Given the description of an element on the screen output the (x, y) to click on. 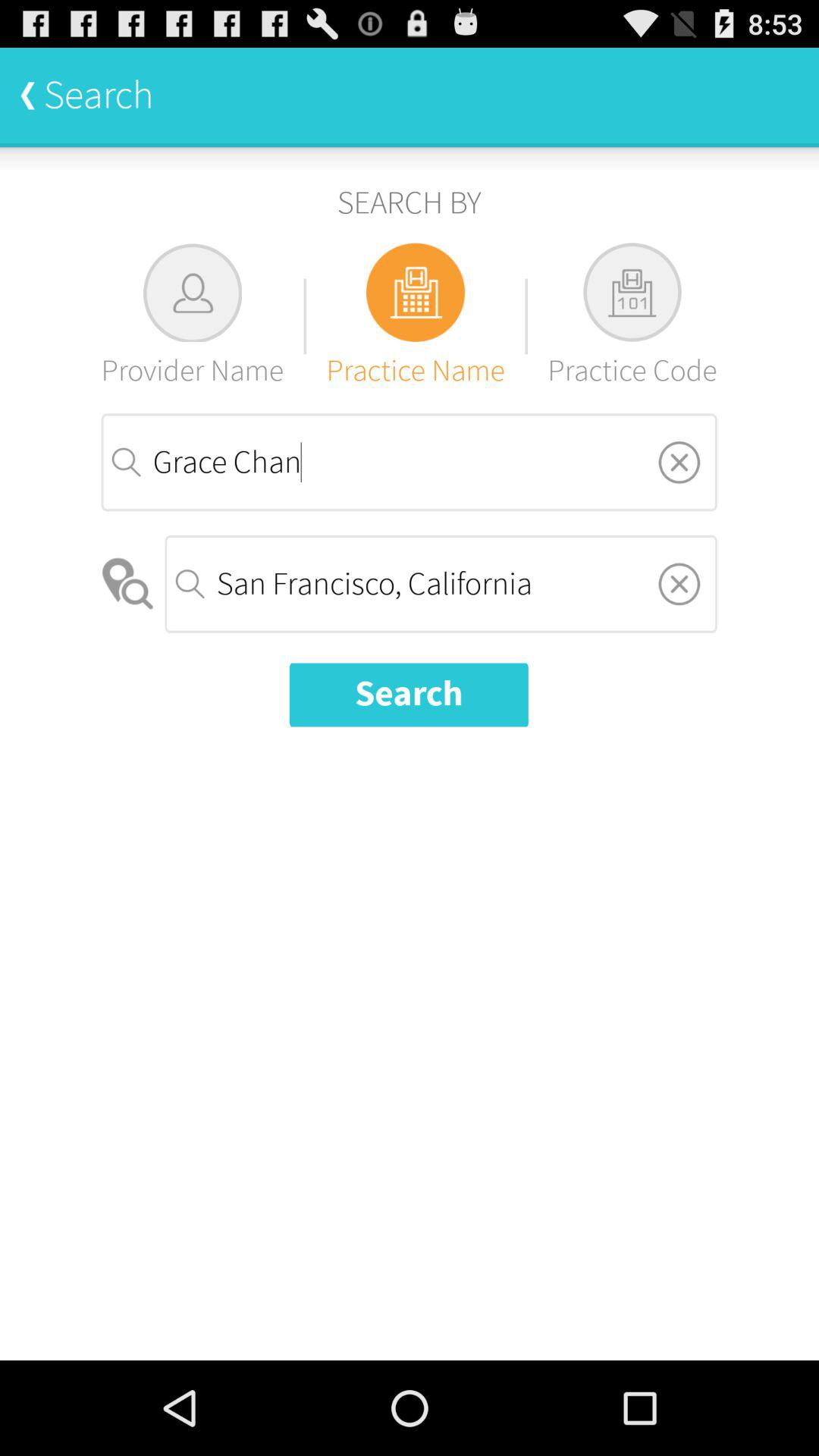
click the icon below search by (632, 315)
